Given the description of an element on the screen output the (x, y) to click on. 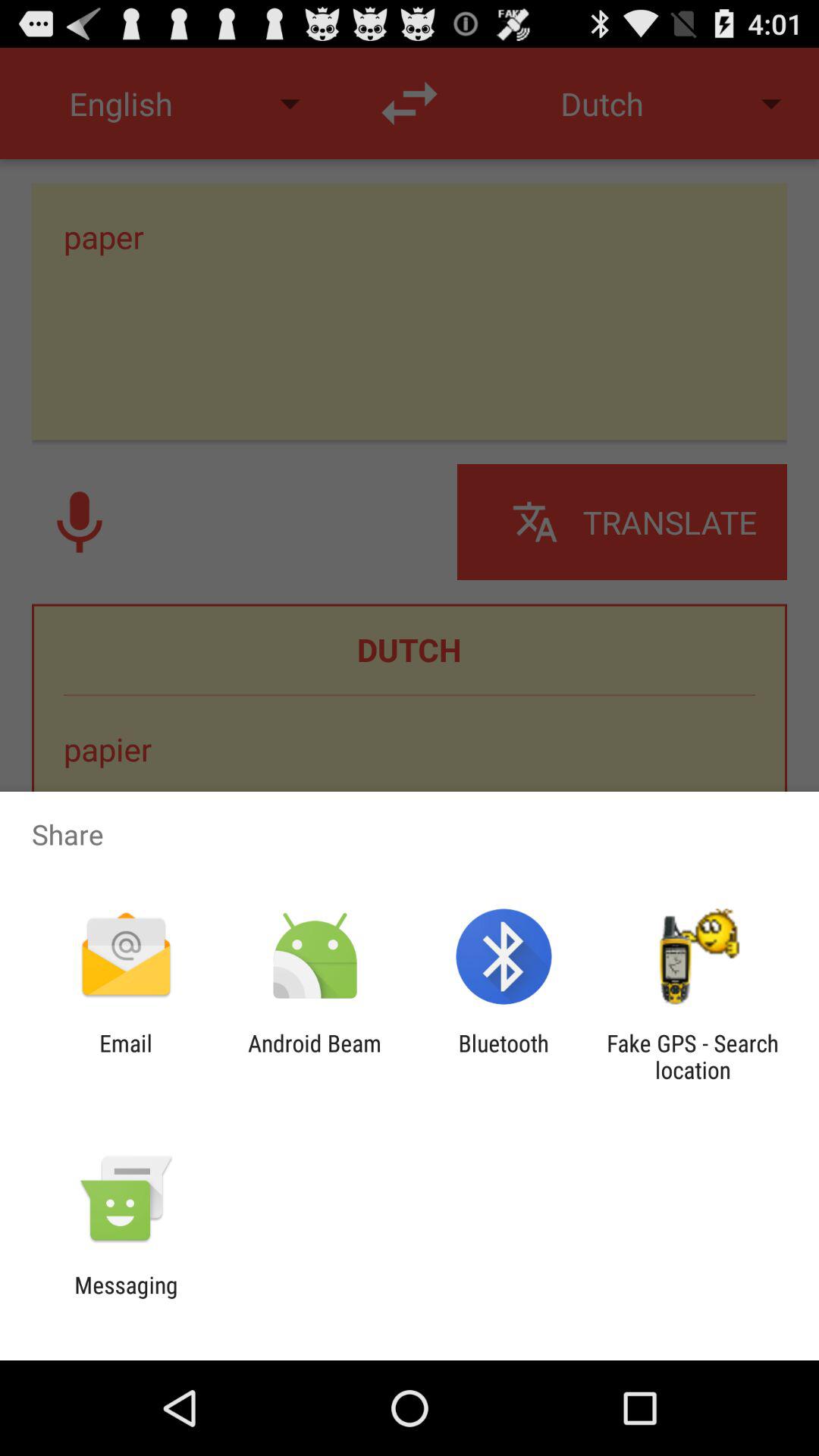
choose the messaging item (126, 1298)
